Given the description of an element on the screen output the (x, y) to click on. 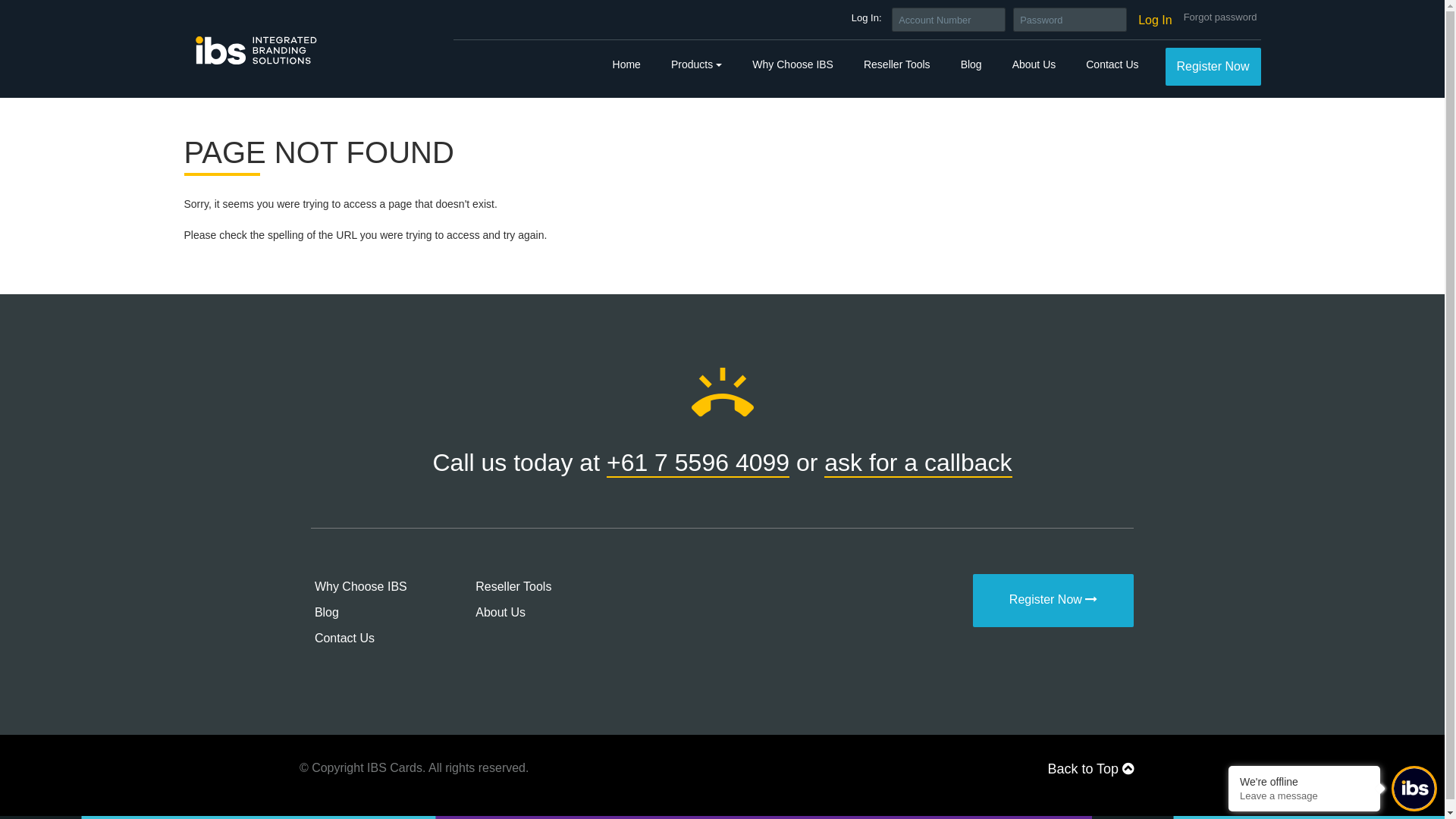
Back to Top Element type: text (1090, 768)
ask for a callback Element type: text (917, 462)
Log In Element type: text (1154, 19)
Forgot password Element type: text (1220, 17)
Why Choose IBS Element type: text (360, 585)
Blog Element type: text (971, 65)
About Us Element type: text (1034, 65)
Home Element type: text (626, 65)
Why Choose IBS Element type: text (792, 65)
Register Now Element type: text (1052, 599)
Blog Element type: text (326, 611)
About Us Element type: text (500, 611)
Register Now Element type: text (1212, 66)
Reseller Tools Element type: text (896, 65)
Reseller Tools Element type: text (513, 585)
Contact Us Element type: text (1111, 65)
Contact Us Element type: text (344, 636)
+61 7 5596 4099 Element type: text (697, 462)
Products Element type: text (696, 65)
